Given the description of an element on the screen output the (x, y) to click on. 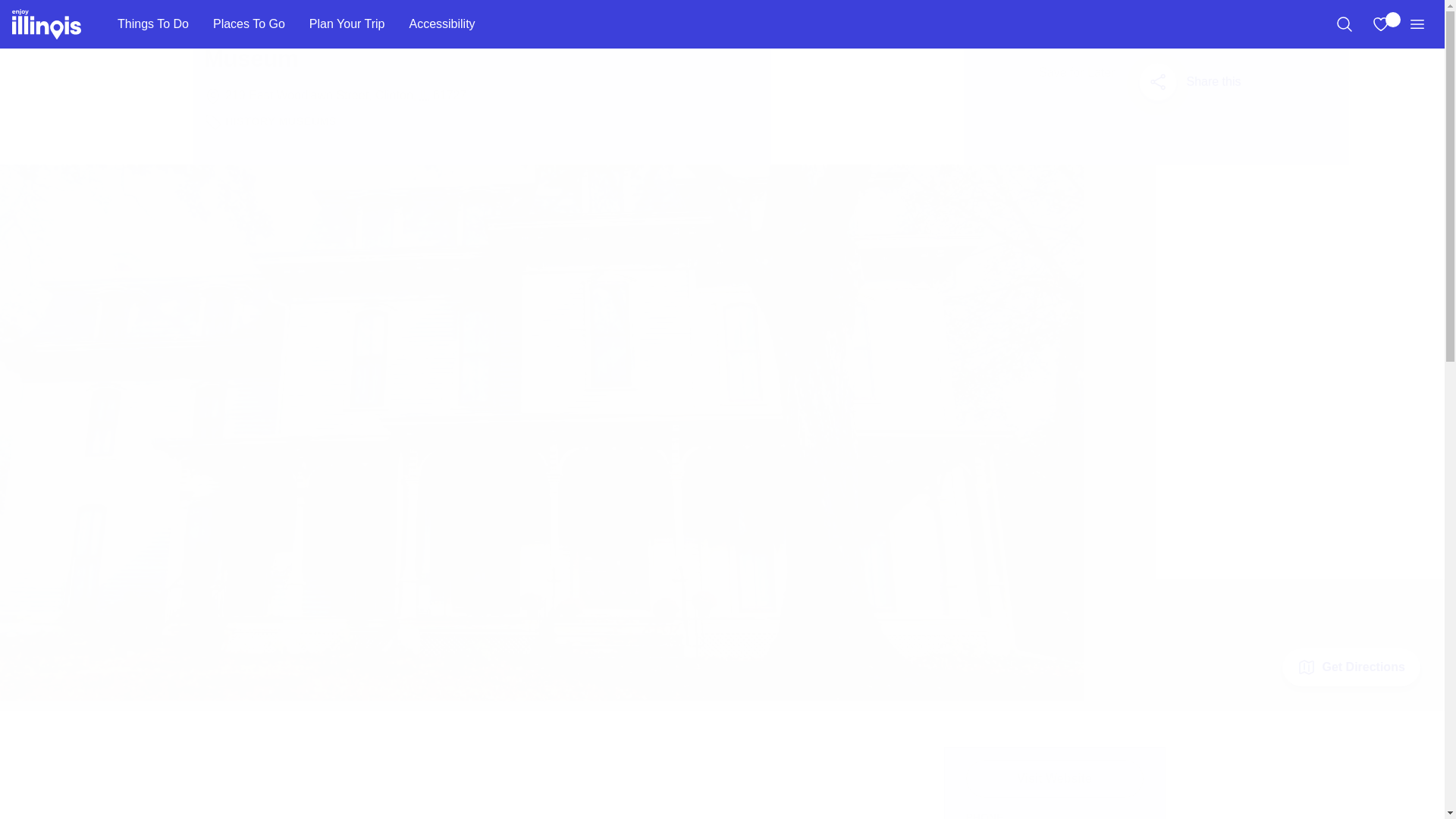
Places To Go (248, 24)
Things To Do (152, 24)
Menu (1417, 24)
Accessibility (441, 24)
Search the Site (1344, 24)
View My Favorites (1380, 24)
Plan Your Trip (347, 24)
